Given the description of an element on the screen output the (x, y) to click on. 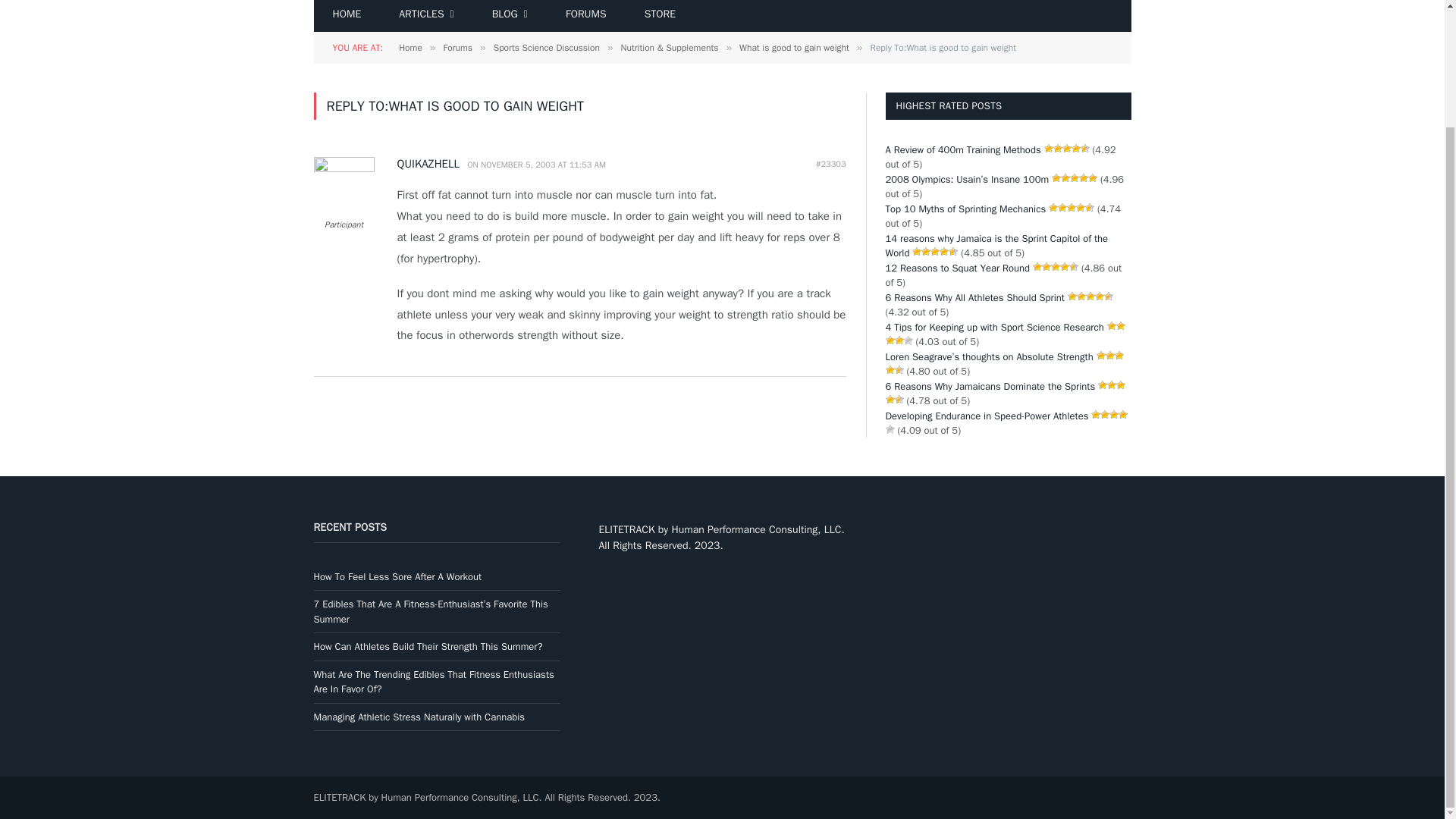
View QUIKAZHELL's profile (430, 163)
67 votes, average: 4.96 out of 5 (1065, 177)
67 votes, average: 4.96 out of 5 (1074, 177)
79 votes, average: 4.92 out of 5 (1047, 148)
67 votes, average: 4.96 out of 5 (1082, 177)
79 votes, average: 4.92 out of 5 (1057, 148)
67 votes, average: 4.96 out of 5 (1056, 177)
79 votes, average: 4.92 out of 5 (1084, 148)
View QUIKAZHELL's profile (344, 168)
BLOG (510, 15)
79 votes, average: 4.92 out of 5 (1066, 148)
A Review of 400m Training Methods (963, 149)
ARTICLES (425, 15)
HOME (347, 15)
79 votes, average: 4.92 out of 5 (1075, 148)
